Given the description of an element on the screen output the (x, y) to click on. 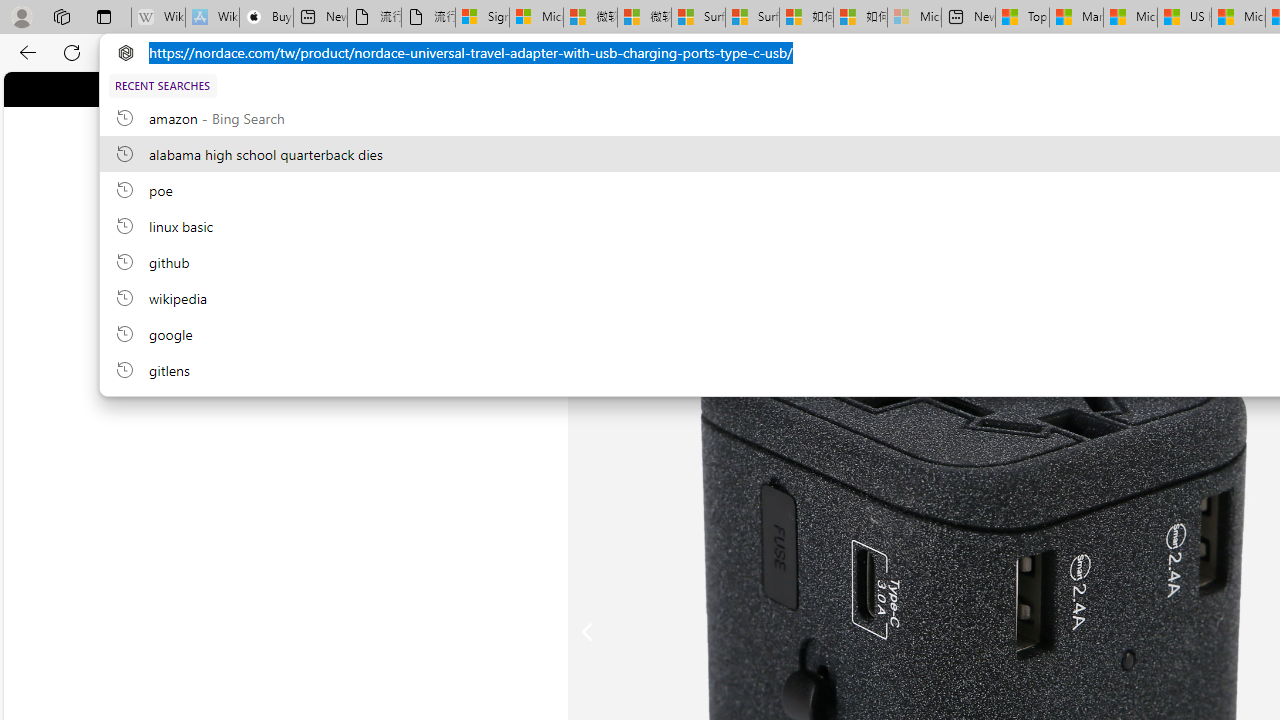
Microsoft account | Account Checkup - Sleeping (914, 17)
Follow on YouTube (653, 88)
Marine life - MSN (1076, 17)
Follow on Pinterest (634, 88)
Follow on Twitter (615, 88)
